Given the description of an element on the screen output the (x, y) to click on. 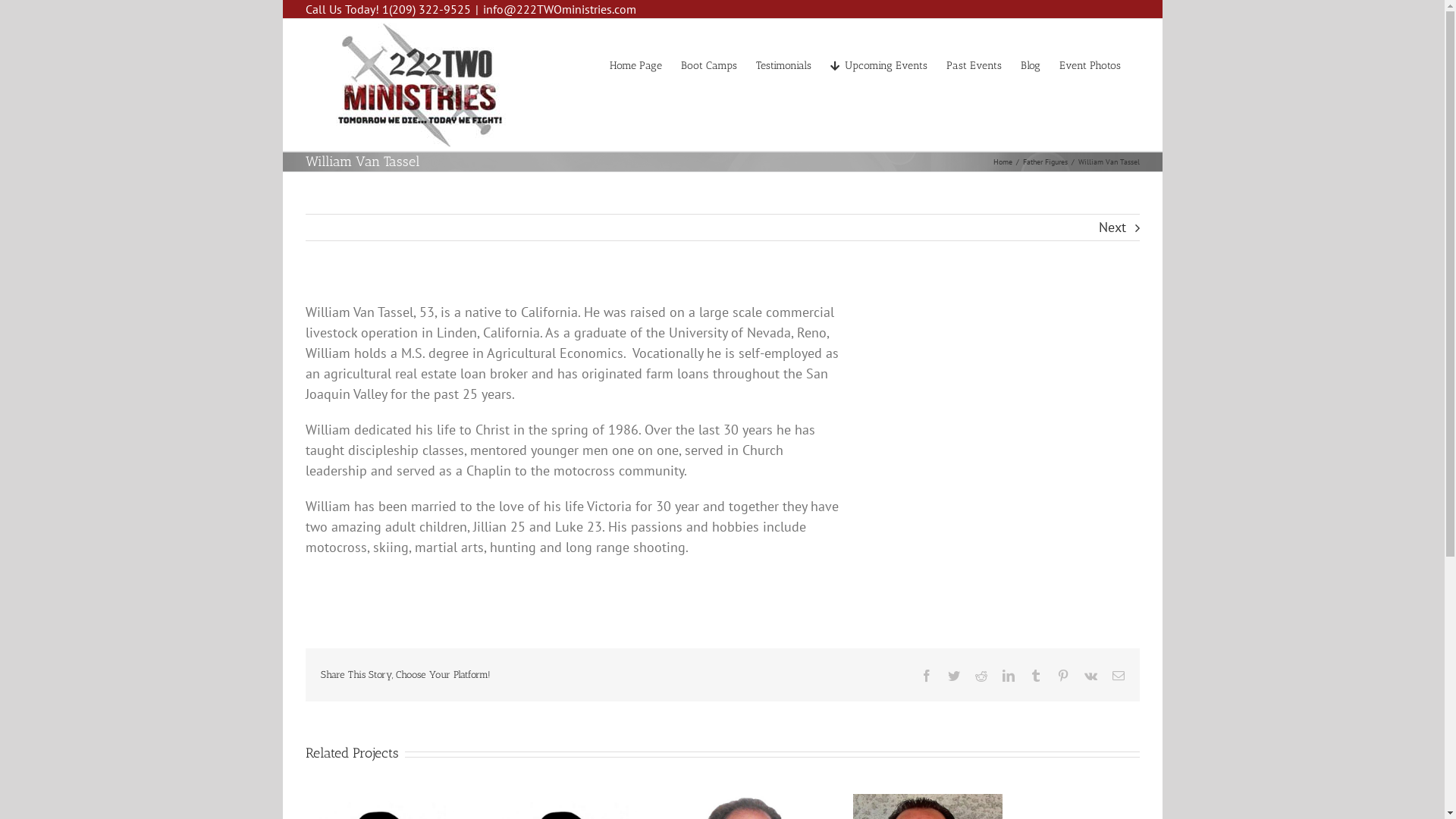
Boot Camps Element type: text (708, 63)
Vk Element type: text (1090, 674)
Facebook Element type: text (926, 674)
LinkedIn Element type: text (1008, 674)
Event Photos Element type: text (1089, 63)
Home Element type: text (1002, 161)
Testimonials Element type: text (782, 63)
Upcoming Events Element type: text (877, 63)
Email Element type: text (1117, 674)
Reddit Element type: text (981, 674)
Next Element type: text (1111, 227)
Tumblr Element type: text (1035, 674)
Father Figures Element type: text (1044, 161)
Twitter Element type: text (953, 674)
Home Page Element type: text (635, 63)
Blog Element type: text (1030, 63)
Past Events Element type: text (973, 63)
Pinterest Element type: text (1063, 674)
info@222TWOministries.com Element type: text (558, 8)
